Given the description of an element on the screen output the (x, y) to click on. 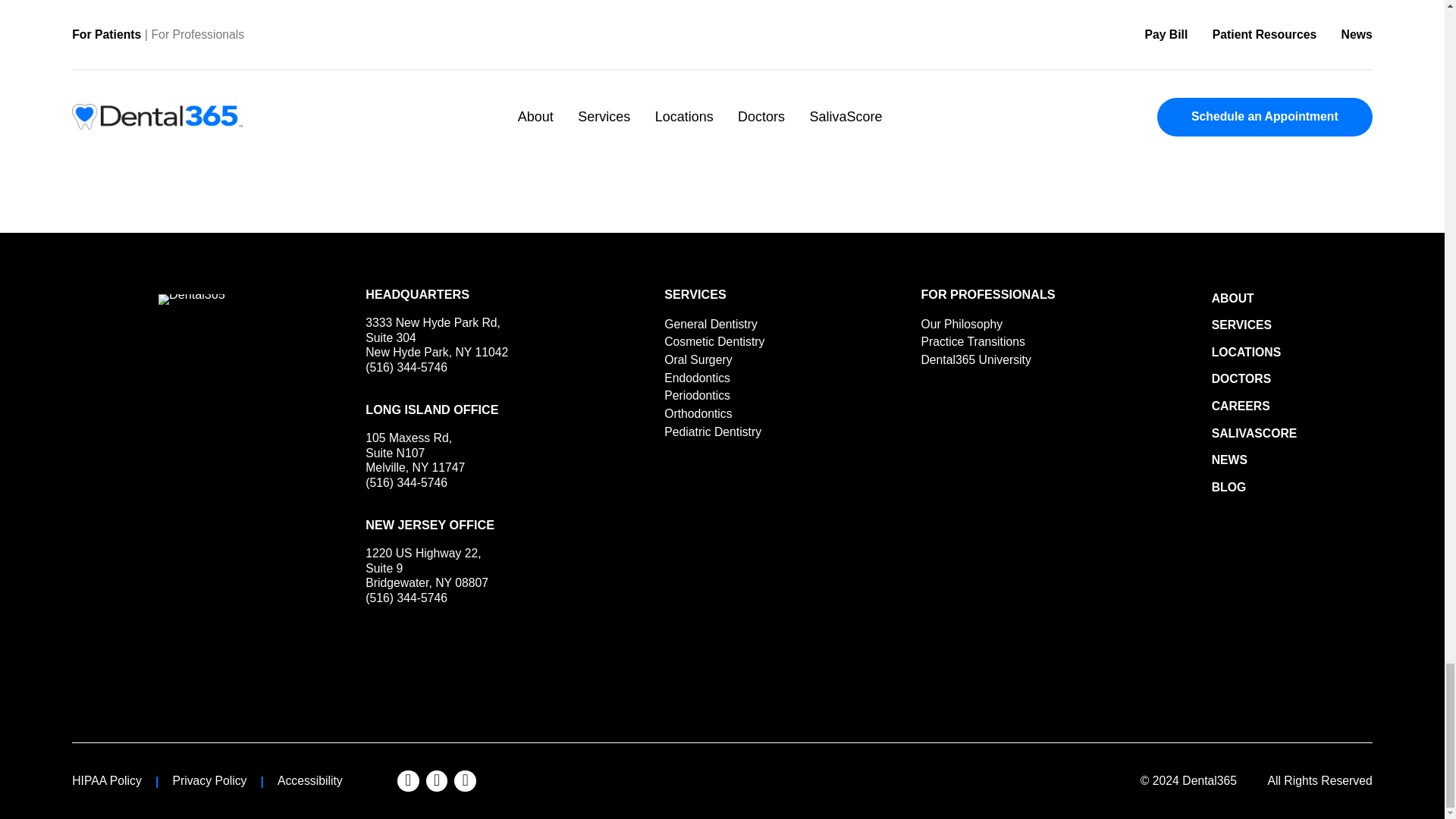
Send (418, 431)
